Given the description of an element on the screen output the (x, y) to click on. 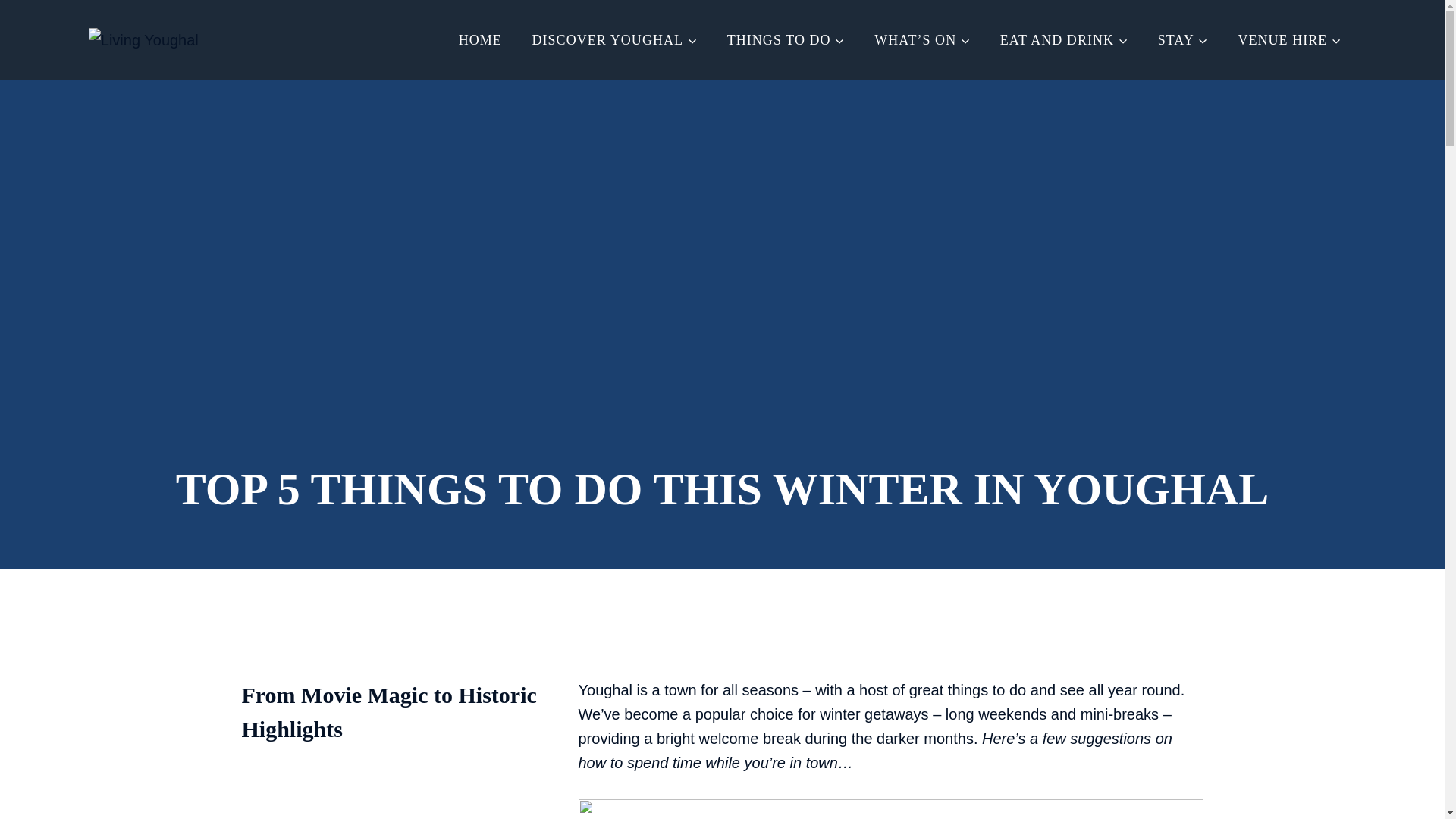
Discover Youghal (613, 39)
EAT AND DRINK (1063, 39)
HOME (480, 39)
VENUE HIRE (1289, 39)
Home (480, 39)
Eat and Drink (1063, 39)
THINGS TO DO (785, 39)
STAY (1182, 39)
DISCOVER YOUGHAL (613, 39)
Things to Do (785, 39)
